Given the description of an element on the screen output the (x, y) to click on. 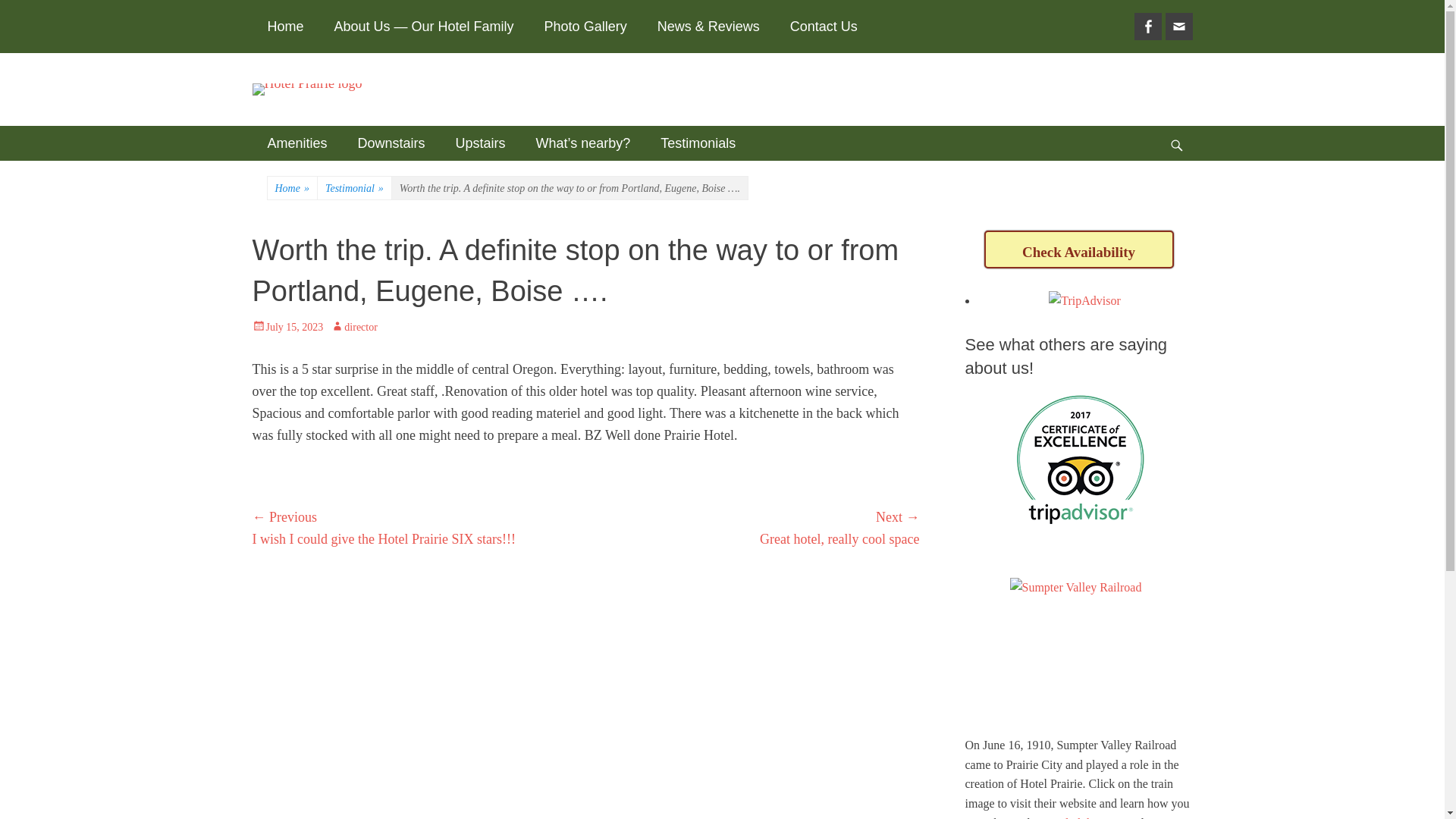
Downstairs (391, 143)
Facebook (1147, 26)
Email (1178, 26)
Upstairs (481, 143)
Amenities (296, 143)
Check Availability (1078, 249)
July 15, 2023 (287, 326)
Facebook (1147, 26)
Testimonials (698, 143)
Photo Gallery (585, 26)
Contact Us (823, 26)
Click here (1081, 817)
